Given the description of an element on the screen output the (x, y) to click on. 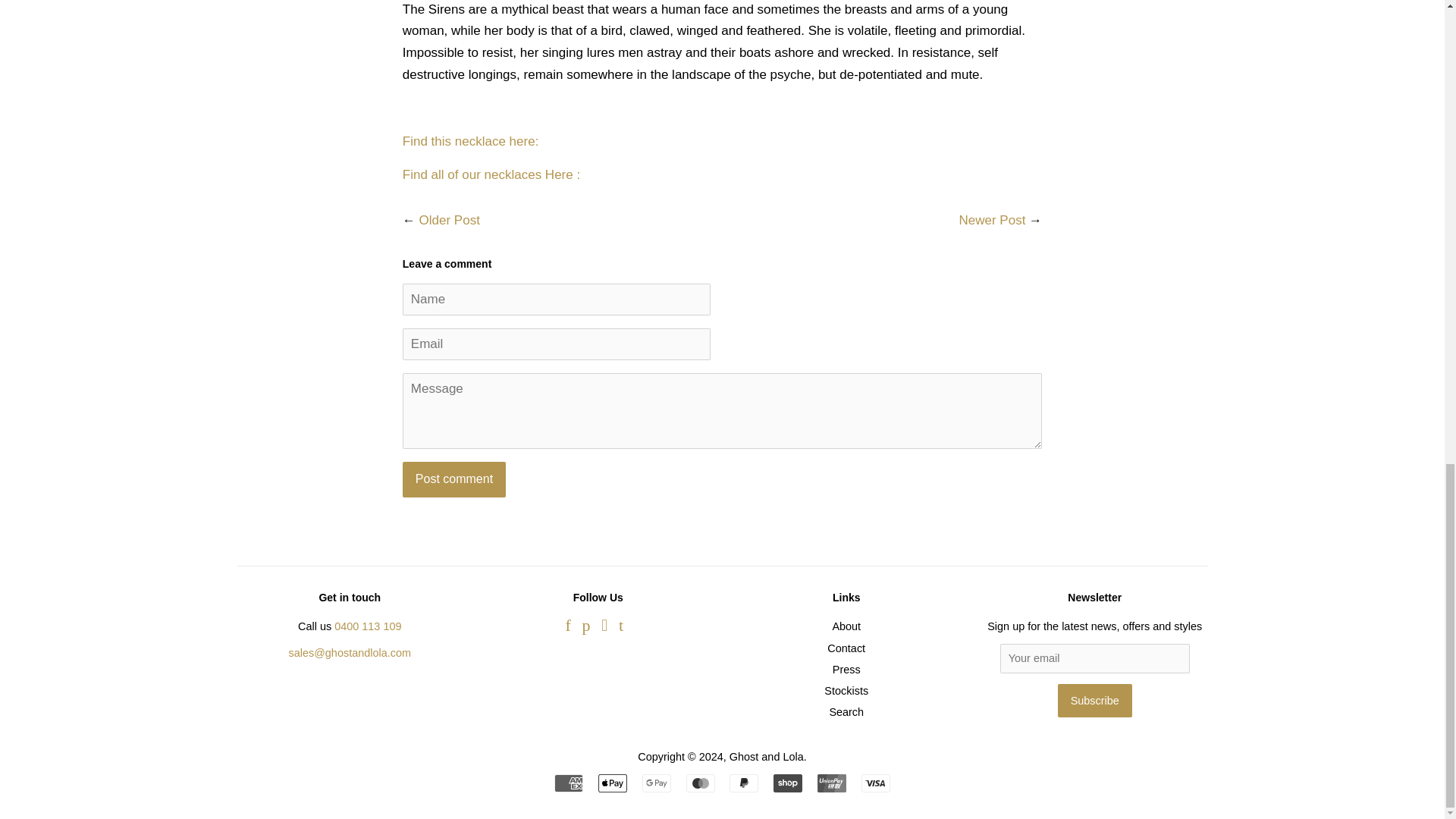
Visa (875, 782)
Mastercard (699, 782)
American Express (568, 782)
Union Pay (830, 782)
Google Pay (656, 782)
Subscribe (1095, 700)
Post comment (454, 479)
Shop Pay (787, 782)
Older Post (449, 219)
